Given the description of an element on the screen output the (x, y) to click on. 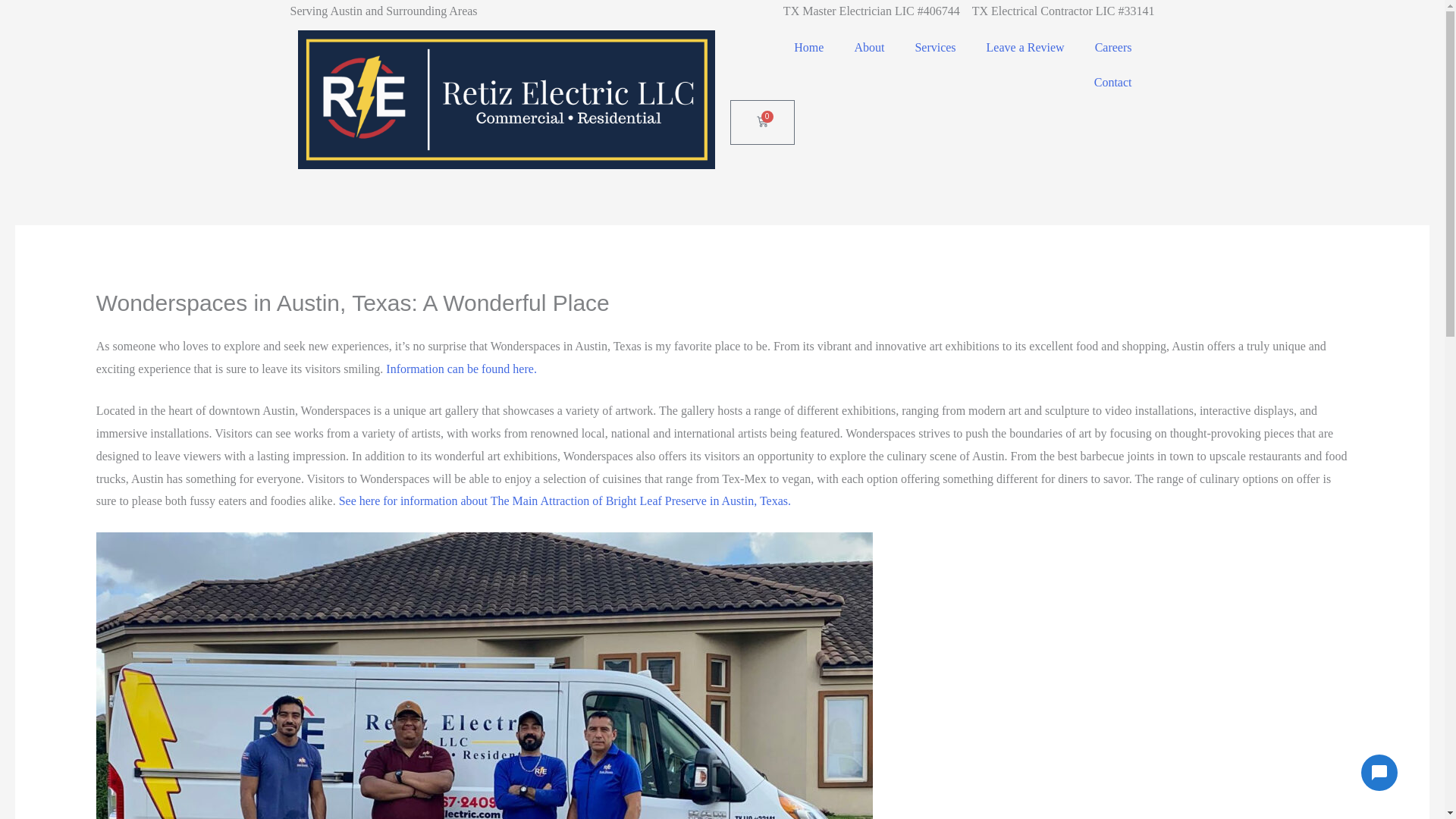
Home (808, 47)
Careers (1113, 47)
Information can be found here. (461, 368)
About (868, 47)
Contact (1112, 82)
Leave a Review (1025, 47)
Services (935, 47)
